Given the description of an element on the screen output the (x, y) to click on. 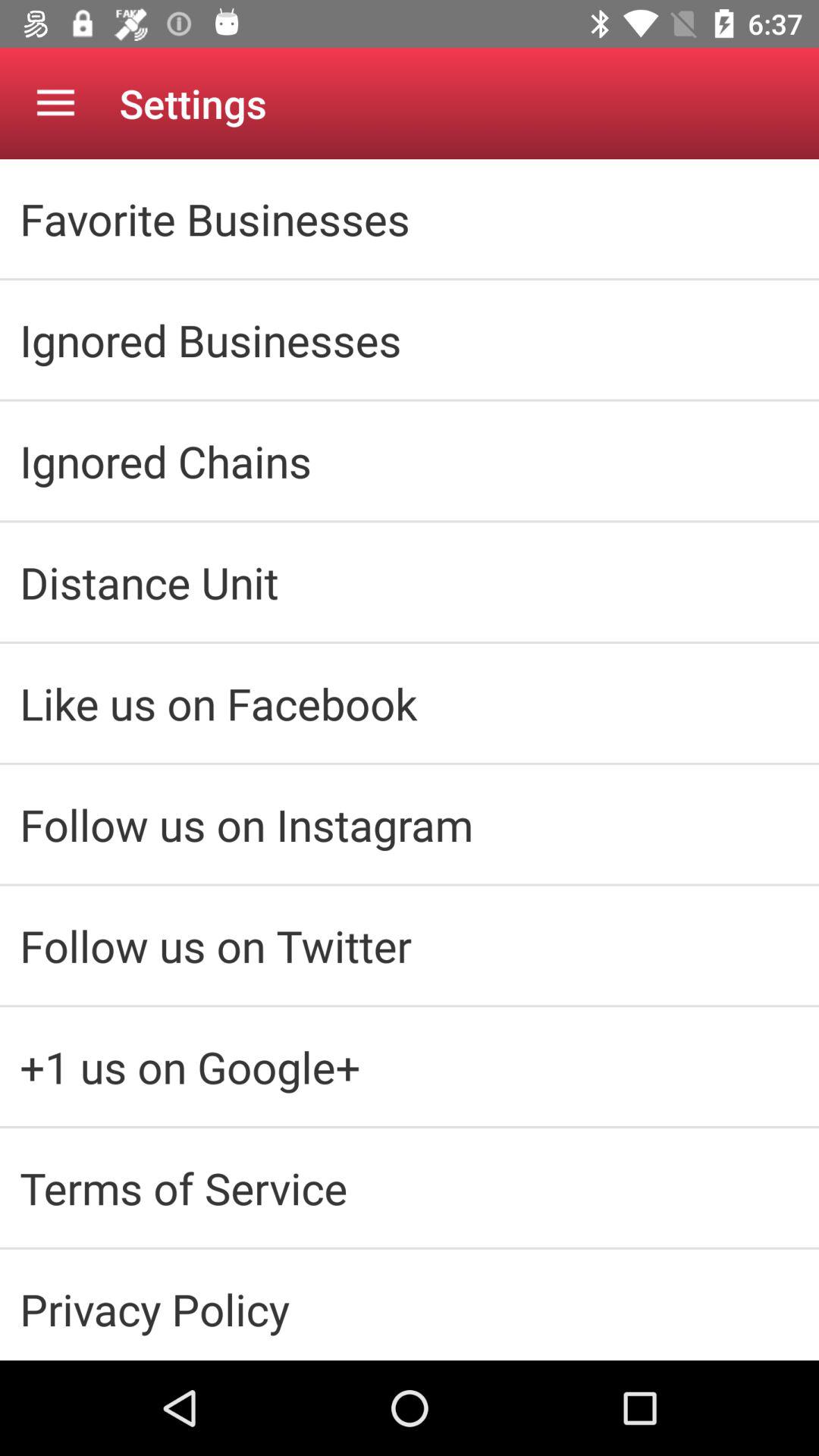
open icon above distance unit (409, 460)
